Given the description of an element on the screen output the (x, y) to click on. 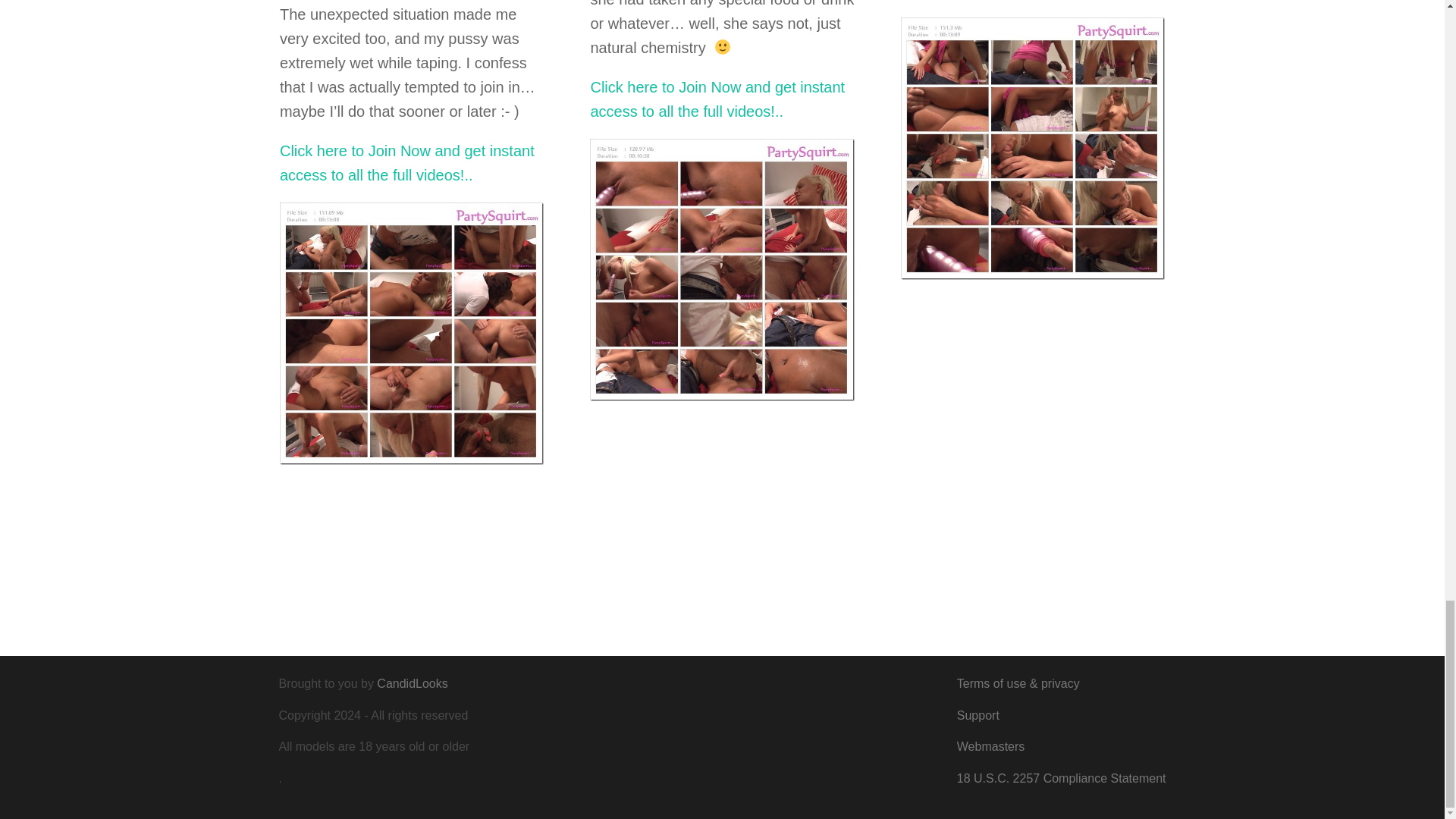
CandidLooks (411, 683)
Support (977, 715)
